Given the description of an element on the screen output the (x, y) to click on. 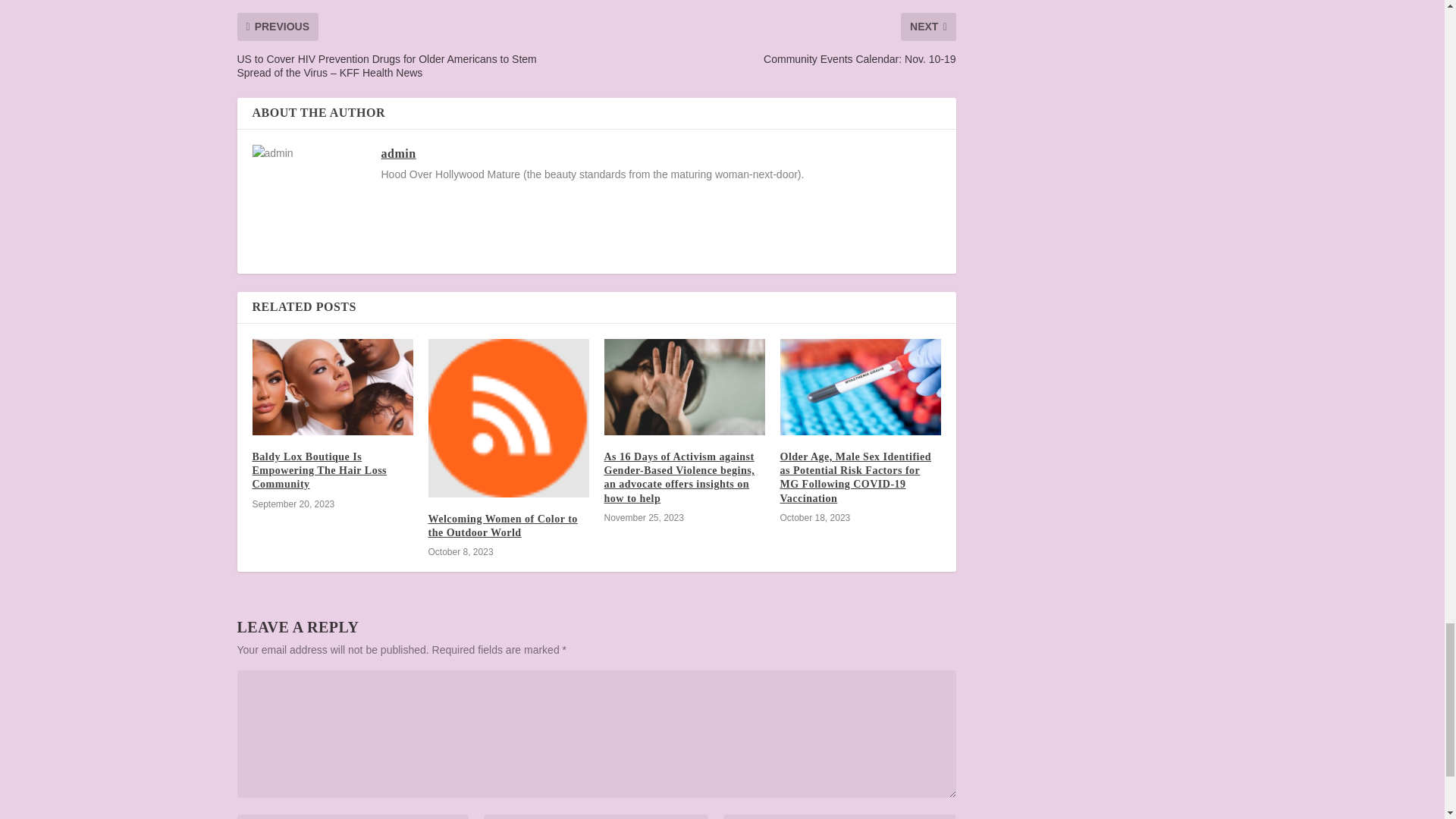
admin (397, 153)
